Given the description of an element on the screen output the (x, y) to click on. 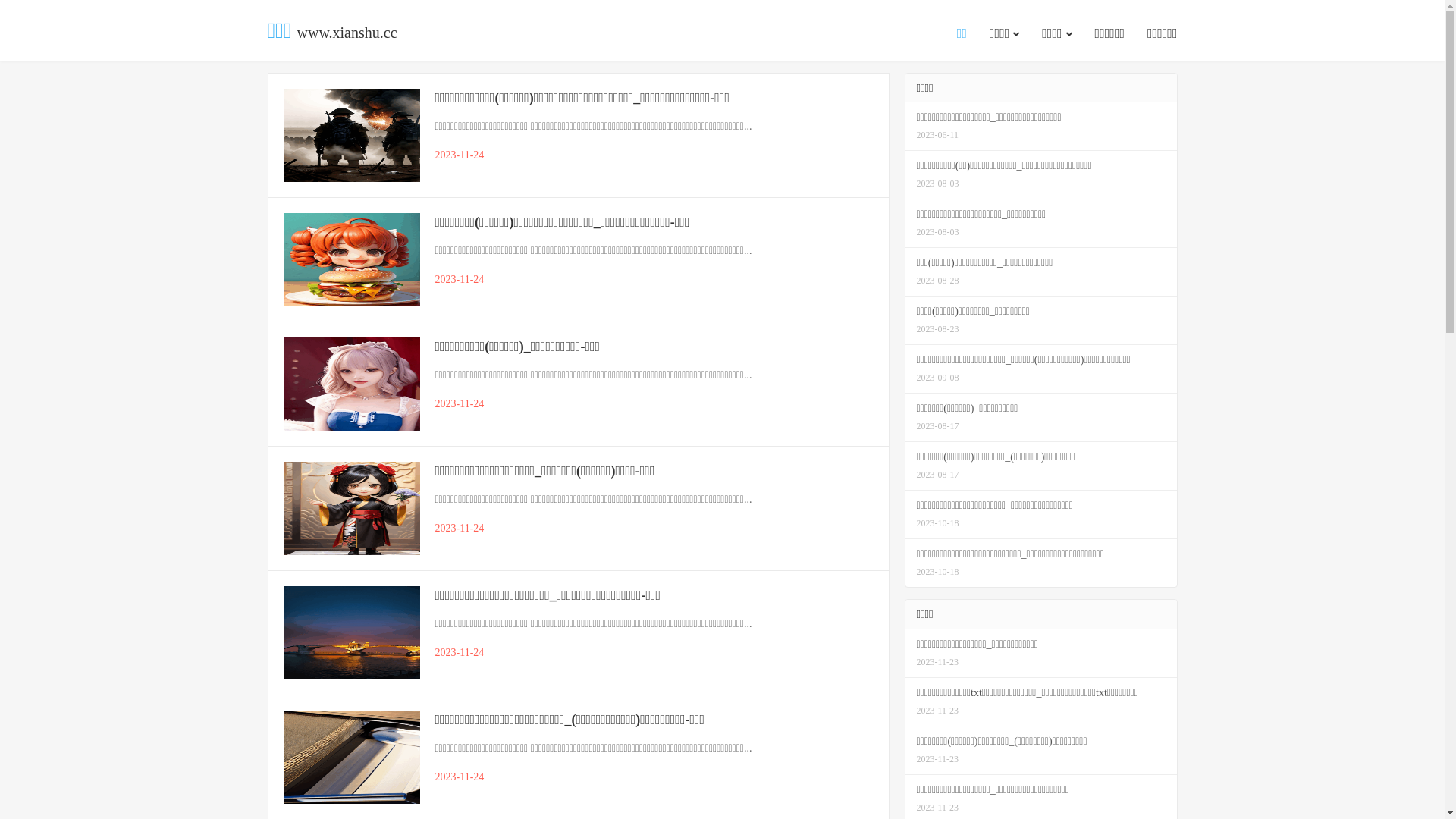
0 Element type: text (6, 24)
